Given the description of an element on the screen output the (x, y) to click on. 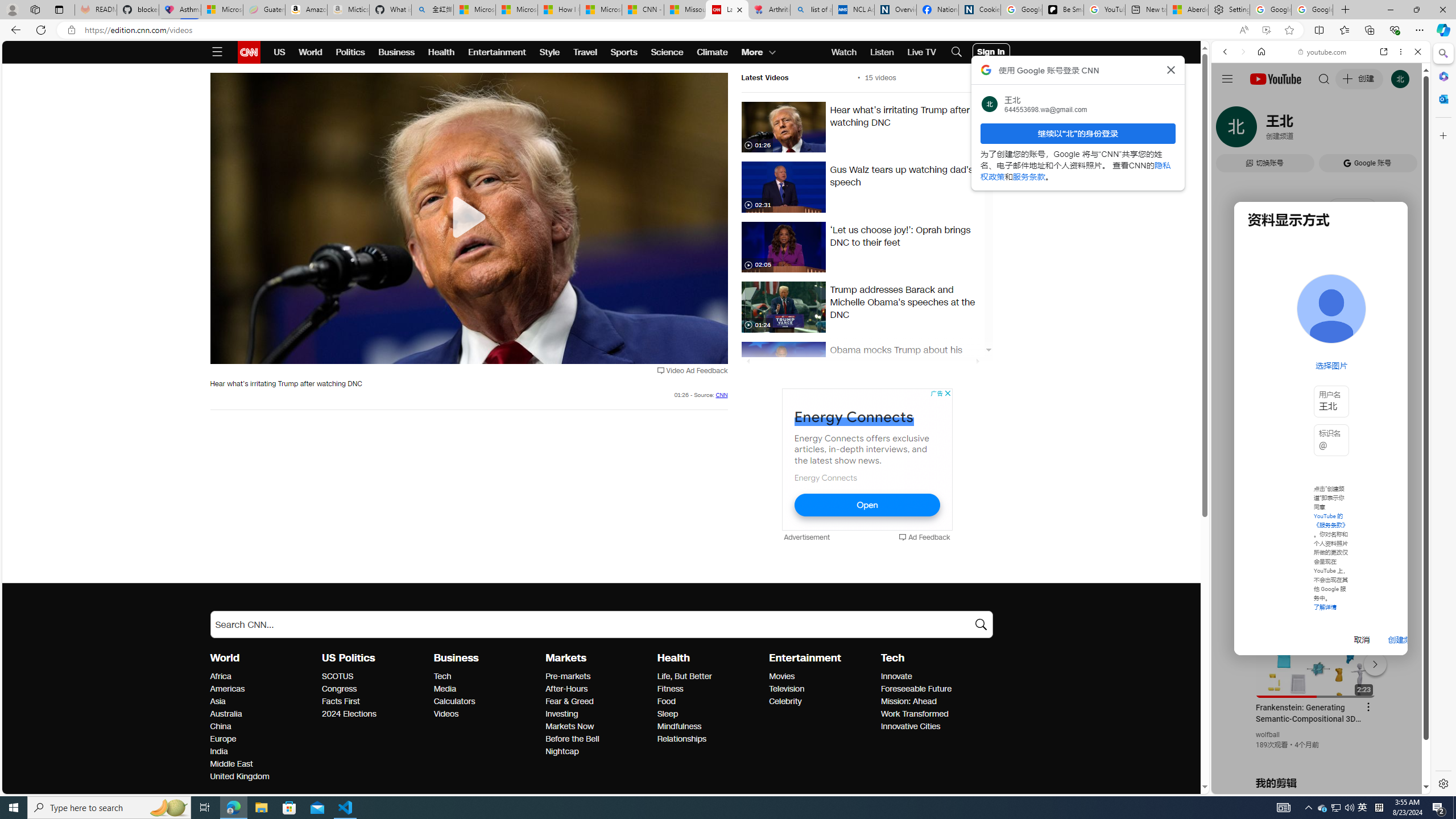
SEARCH TOOLS (1350, 130)
Search Filter, Search Tools (1350, 129)
Mission: Ahead (932, 701)
Before the Bell (598, 739)
US Politics Facts First (340, 701)
Health (673, 657)
Markets Before the Bell (572, 738)
Search videos from youtube.com (1299, 373)
World (224, 657)
World Middle East (231, 763)
Congress (373, 688)
